Given the description of an element on the screen output the (x, y) to click on. 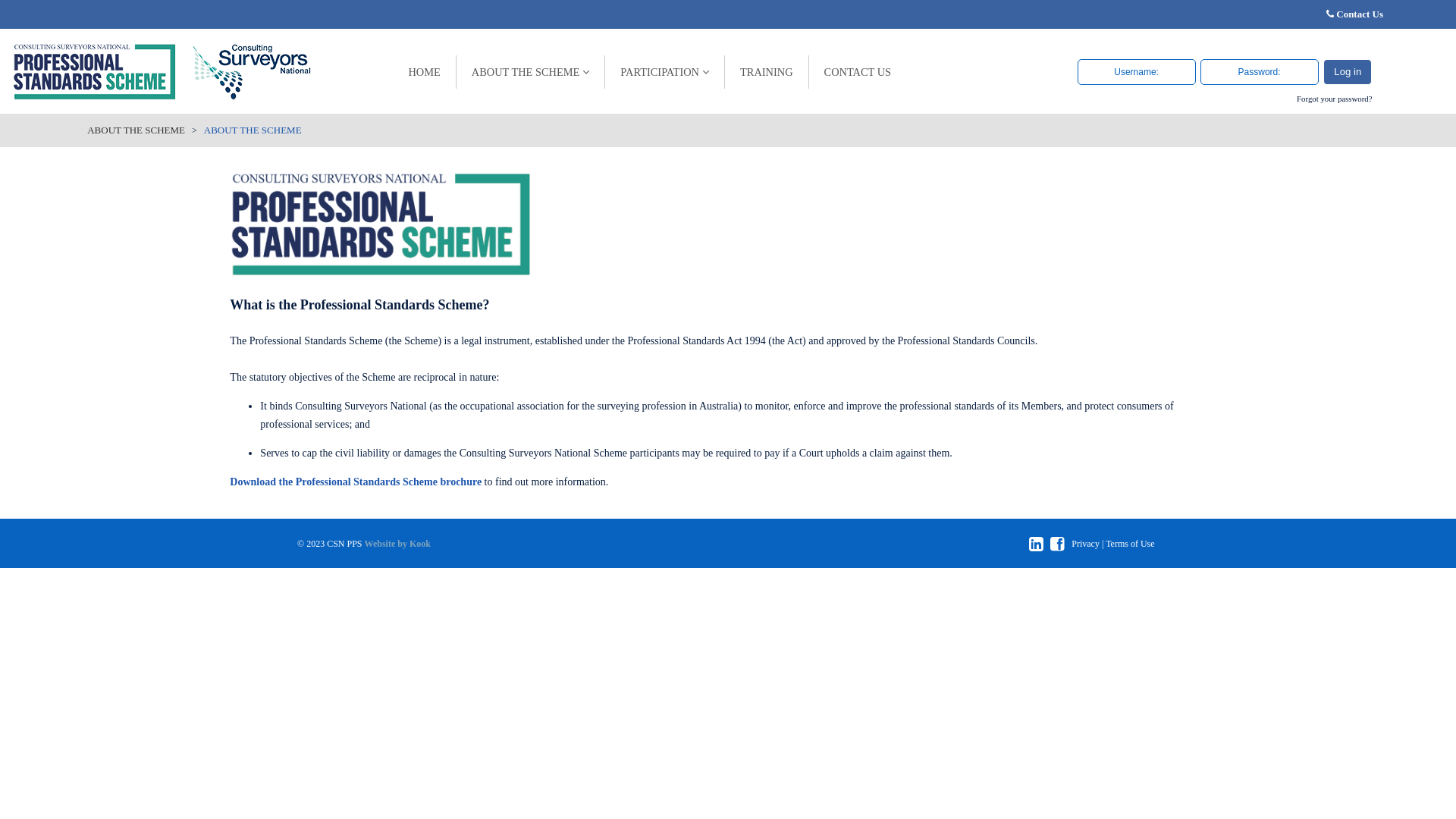
Privacy Element type: text (1085, 543)
CONTACT US Element type: text (857, 71)
TRAINING Element type: text (766, 71)
Contact Us Element type: text (1359, 13)
ABOUT THE SCHEME Element type: text (530, 71)
Log in Element type: text (1347, 71)
Forgot your password? Element type: text (1333, 98)
PARTICIPATION Element type: text (664, 71)
Website by Kook Element type: text (397, 543)
Download the Professional Standards Scheme brochure Element type: text (355, 481)
ABOUT THE SCHEME Element type: text (136, 129)
HOME Element type: text (423, 71)
Terms of Use Element type: text (1129, 543)
